Given the description of an element on the screen output the (x, y) to click on. 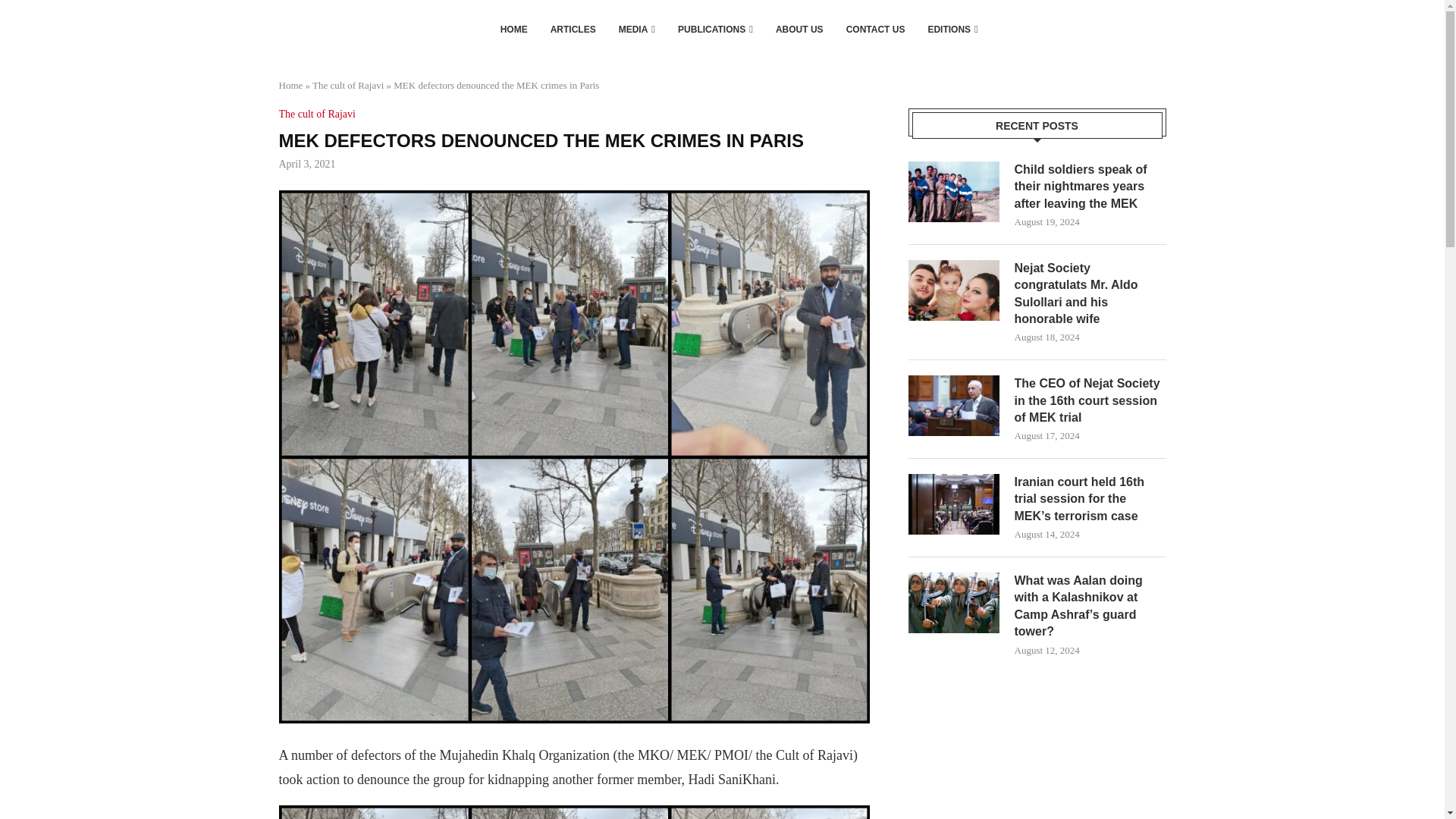
EDITIONS (951, 29)
PUBLICATIONS (715, 29)
CONTACT US (875, 29)
ARTICLES (572, 29)
ABOUT US (800, 29)
